Given the description of an element on the screen output the (x, y) to click on. 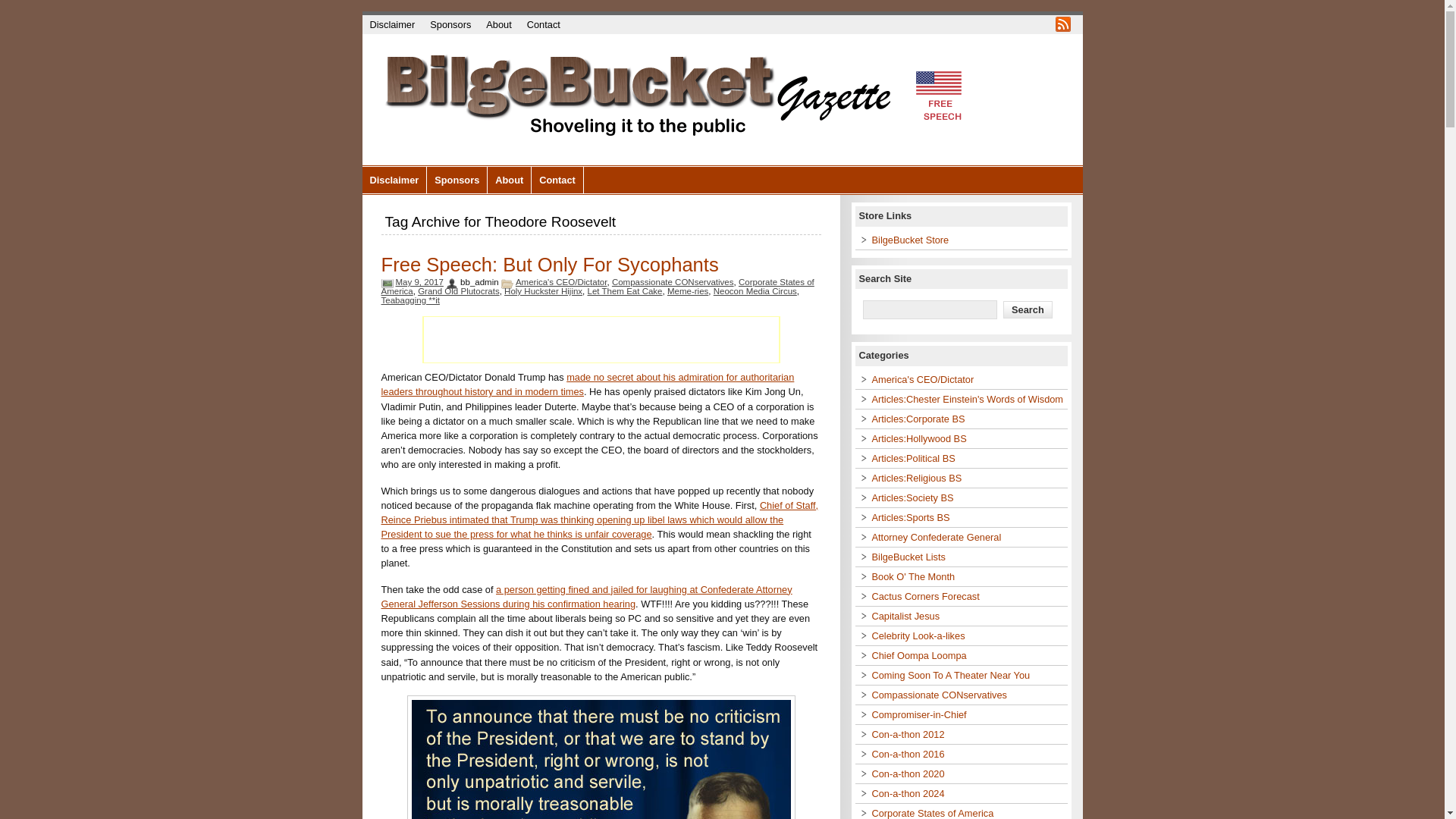
Buy BilgeBucket Schtuff (910, 239)
Meme-ries (686, 290)
Corporate States of America (596, 286)
May 9, 2017 (420, 281)
Sponsors (456, 180)
Advertisement (600, 339)
Free Speech: But Only For Sycophants (548, 264)
Contact (543, 24)
